Given the description of an element on the screen output the (x, y) to click on. 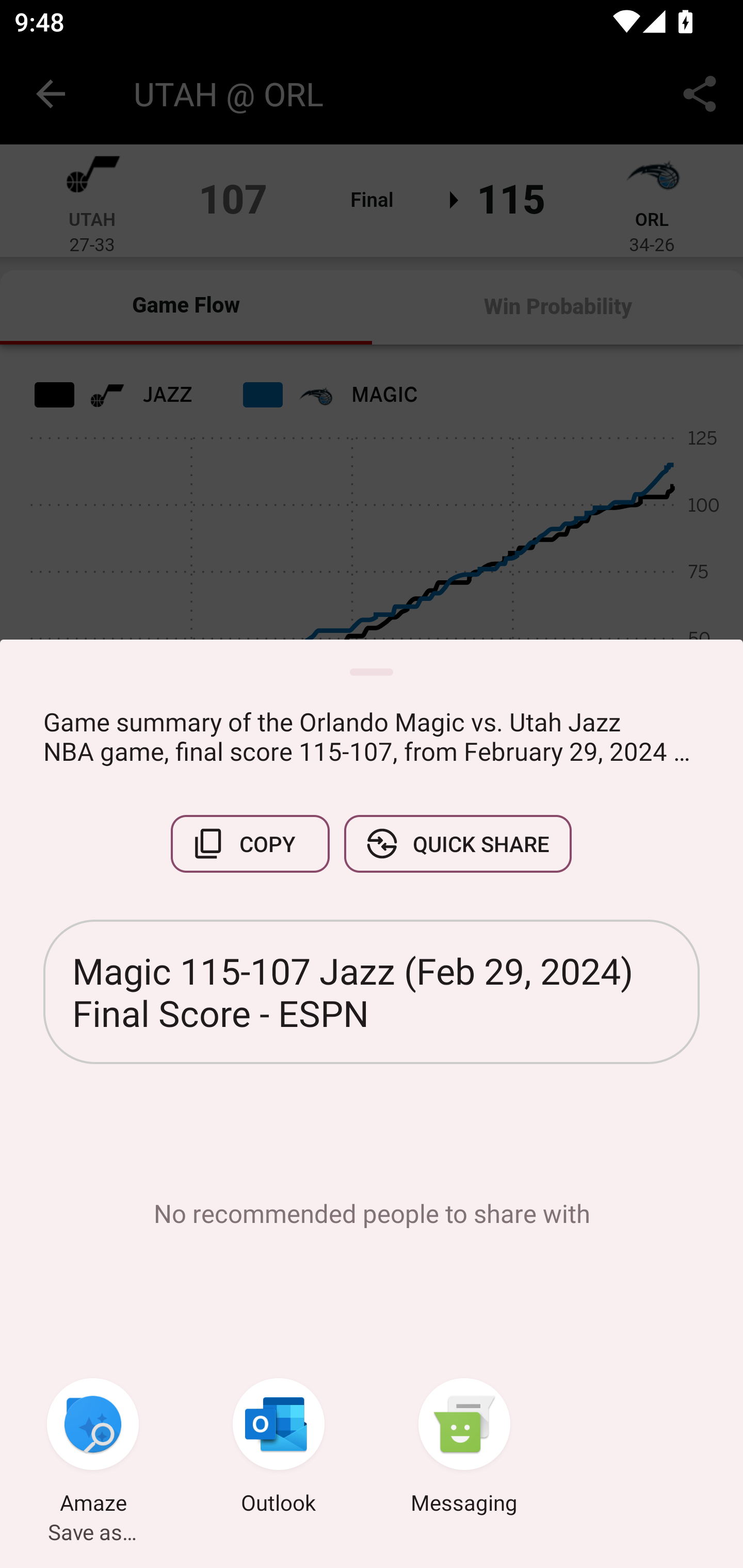
COPY (249, 844)
QUICK SHARE (457, 844)
Amaze Save as… (92, 1448)
Outlook (278, 1448)
Messaging (464, 1448)
